Given the description of an element on the screen output the (x, y) to click on. 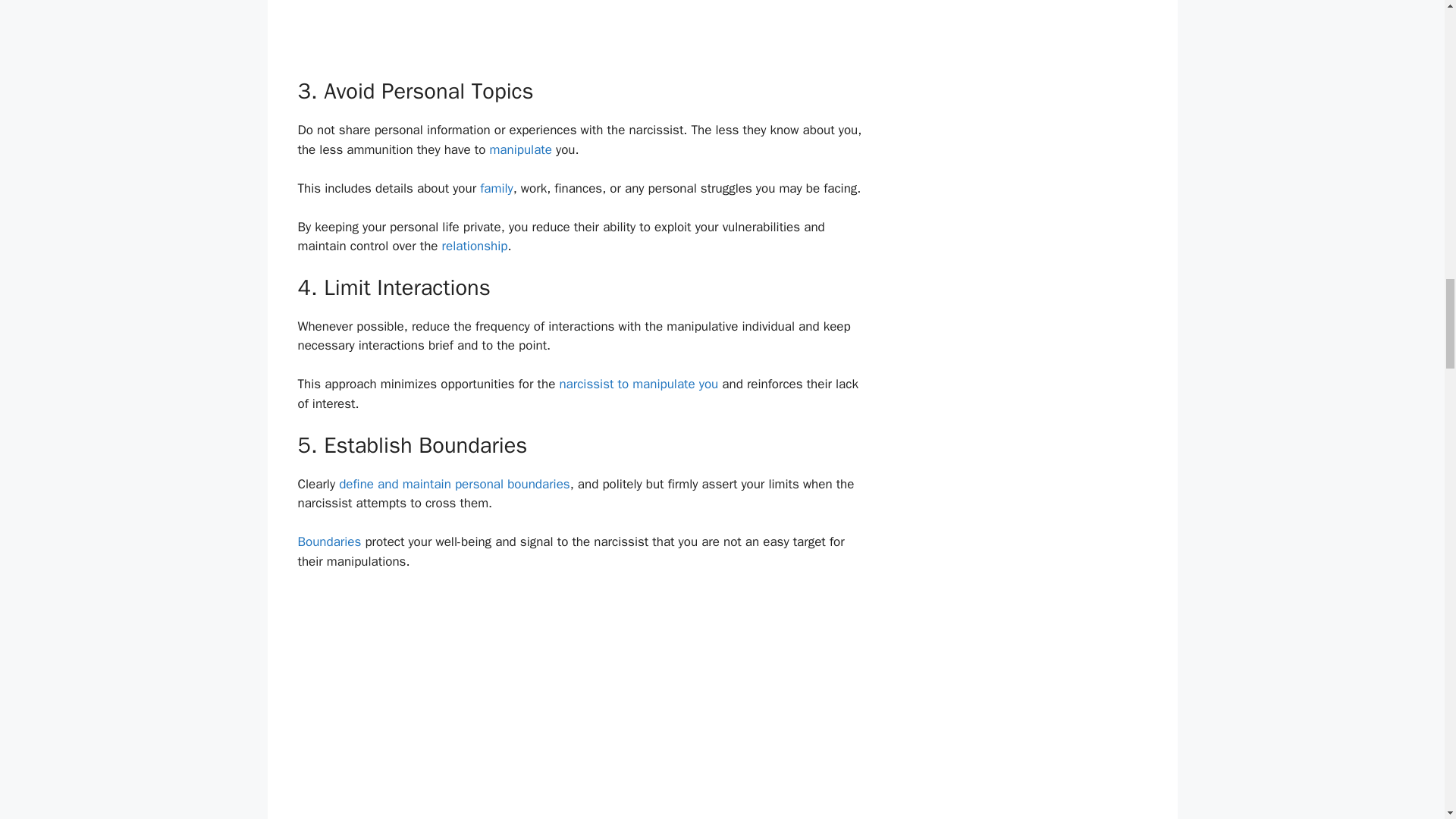
relationship (475, 245)
family (496, 188)
manipulate (520, 149)
Boundaries (329, 541)
